Given the description of an element on the screen output the (x, y) to click on. 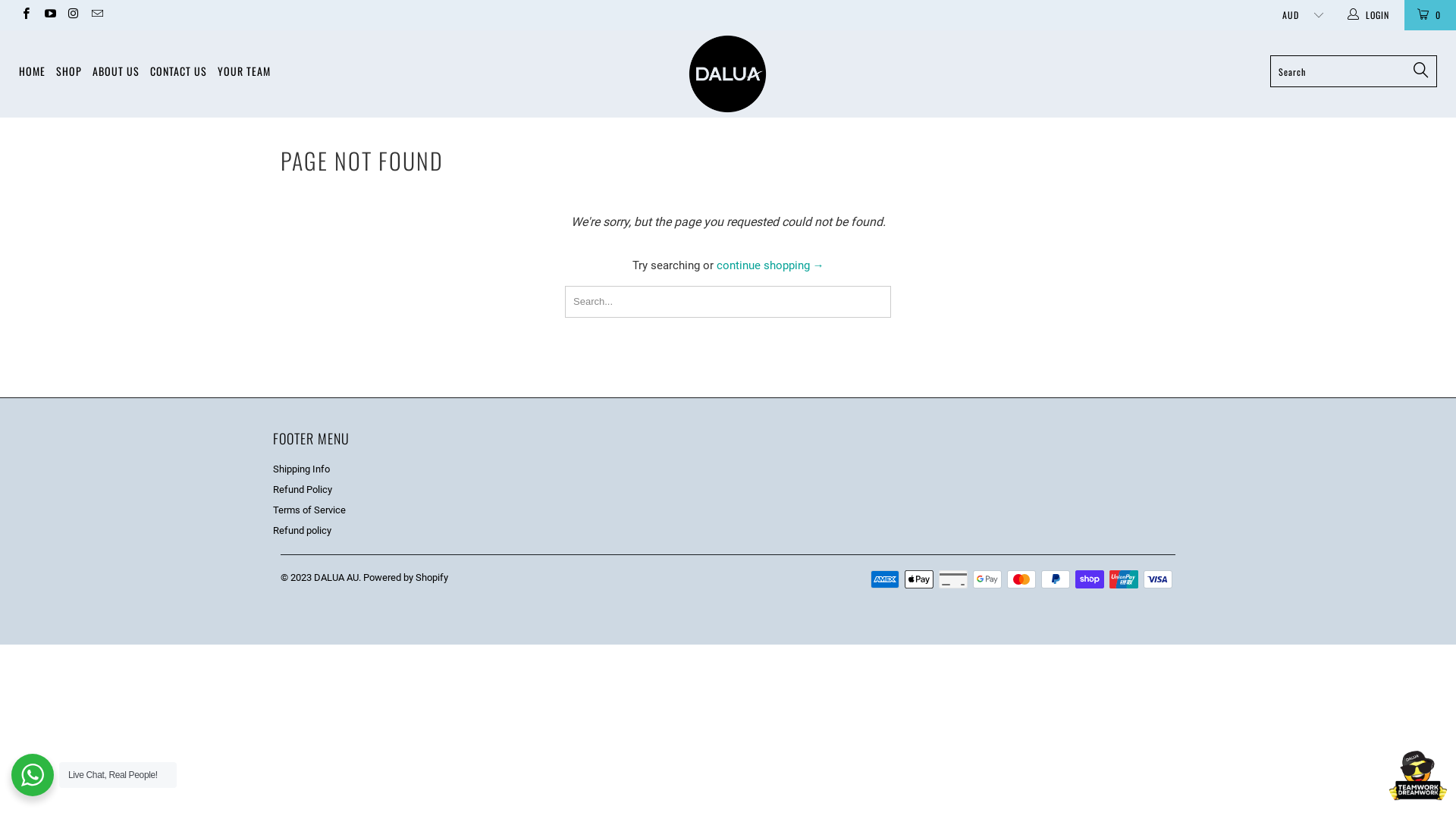
HOME Element type: text (31, 71)
Email DALUA AU Element type: hover (96, 14)
Refund policy Element type: text (302, 530)
DALUA AU Element type: hover (727, 73)
DALUA AU on Facebook Element type: hover (24, 14)
YOUR TEAM Element type: text (243, 71)
Refund Policy Element type: text (302, 489)
Terms of Service Element type: text (309, 509)
SHOP Element type: text (68, 71)
Shipping Info Element type: text (301, 467)
Powered by Shopify Element type: text (405, 577)
CONTACT US Element type: text (178, 71)
DALUA AU on YouTube Element type: hover (48, 14)
LOGIN Element type: text (1368, 15)
ABOUT US Element type: text (115, 71)
DALUA AU on Instagram Element type: hover (72, 14)
DALUA AU Element type: text (335, 577)
